Given the description of an element on the screen output the (x, y) to click on. 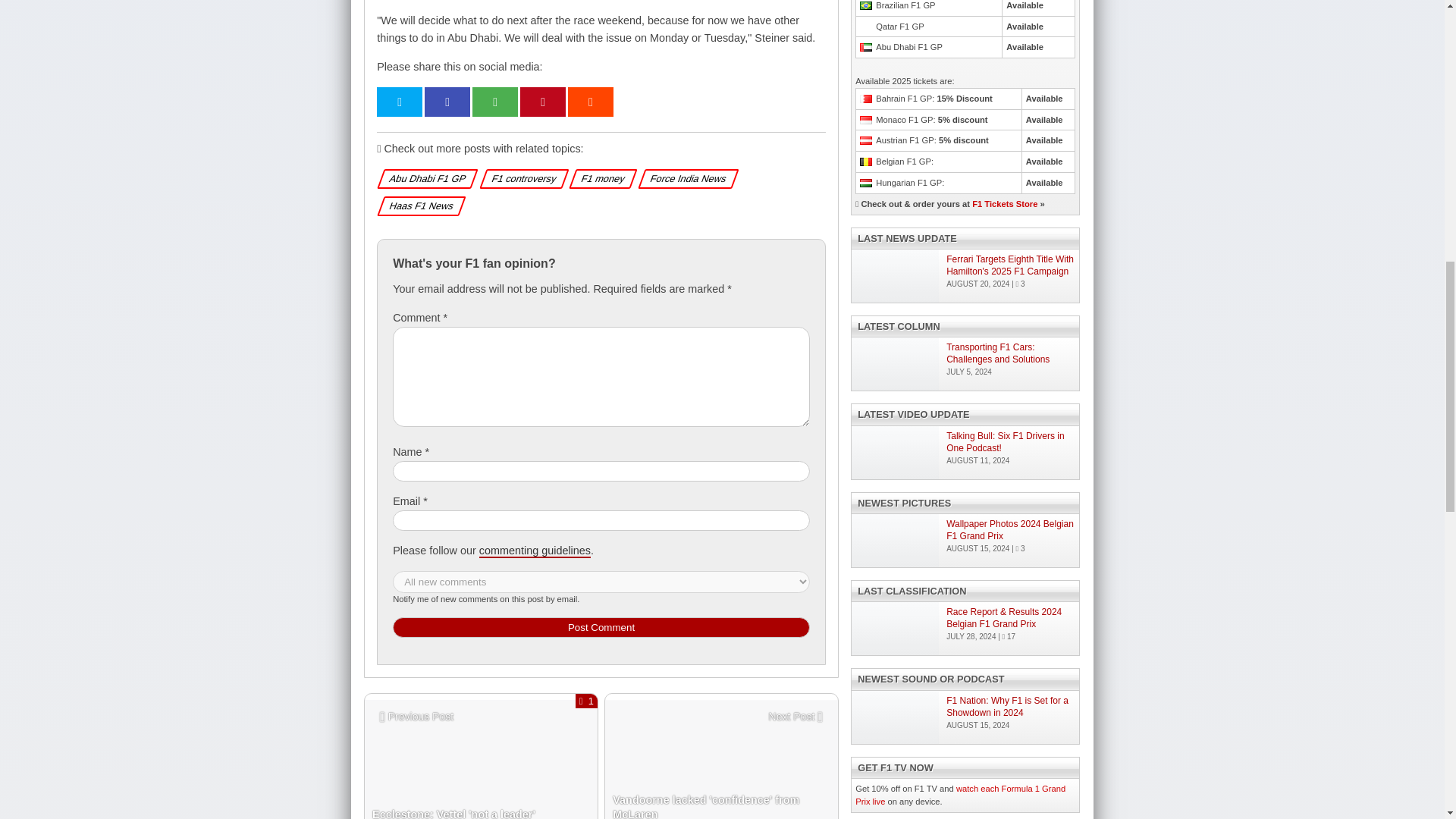
Abu Dhabi F1 GP (425, 178)
Force India News (686, 178)
Haas F1 News (419, 205)
F1 controversy (520, 178)
F1 money (601, 178)
commenting guidelines (480, 776)
Post Comment (535, 550)
Post Comment (721, 776)
